Given the description of an element on the screen output the (x, y) to click on. 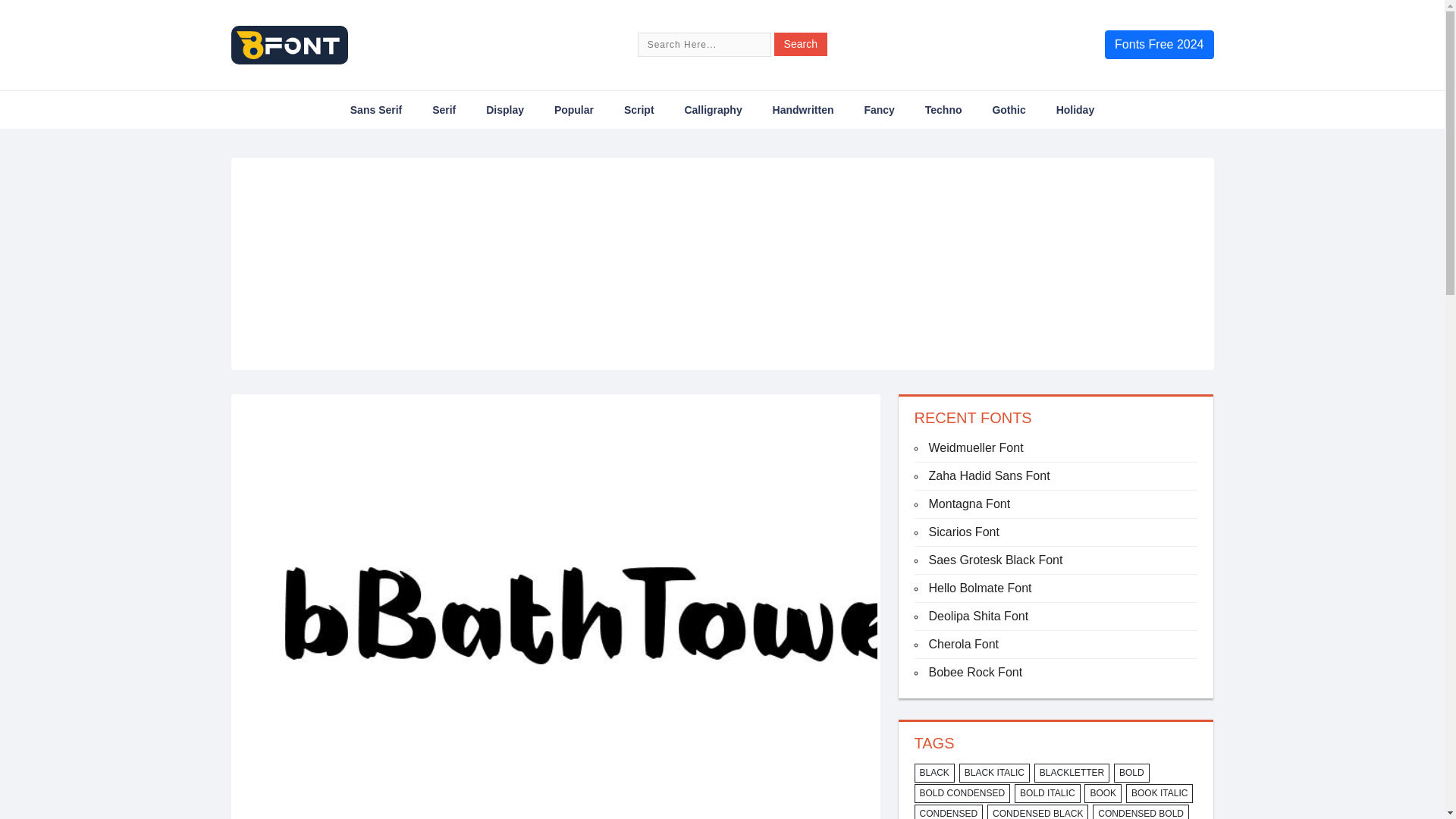
Techno (943, 109)
Fonts Free 2024 (1158, 44)
Search (800, 44)
Montagna Font (969, 503)
Calligraphy (712, 109)
Zaha Hadid Sans Font (988, 475)
Holiday (1075, 109)
Popular (574, 109)
Search (800, 44)
Sans Serif (375, 109)
Handwritten (803, 109)
Display (505, 109)
Weidmueller Font (975, 447)
